Given the description of an element on the screen output the (x, y) to click on. 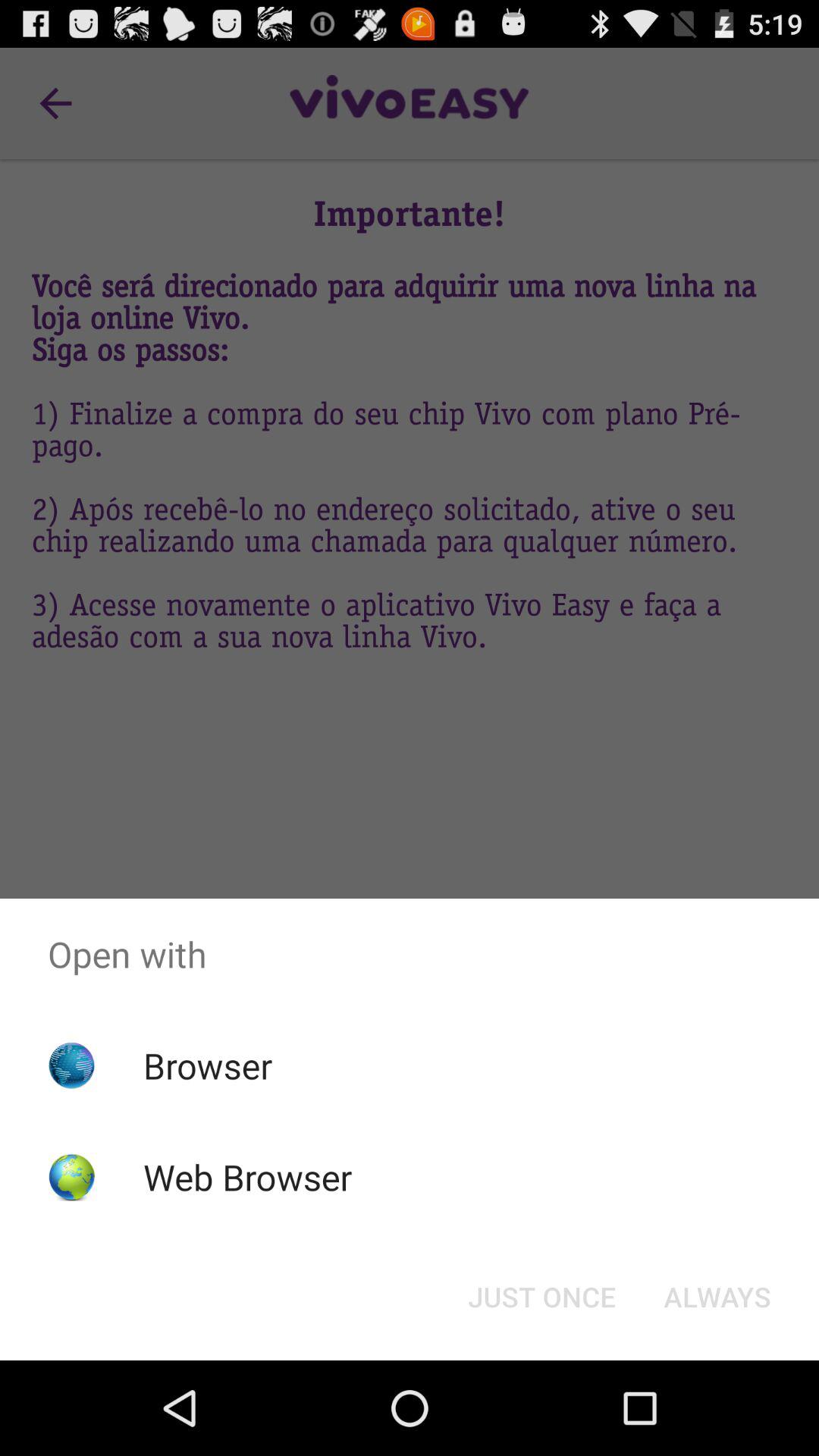
select just once icon (541, 1296)
